Given the description of an element on the screen output the (x, y) to click on. 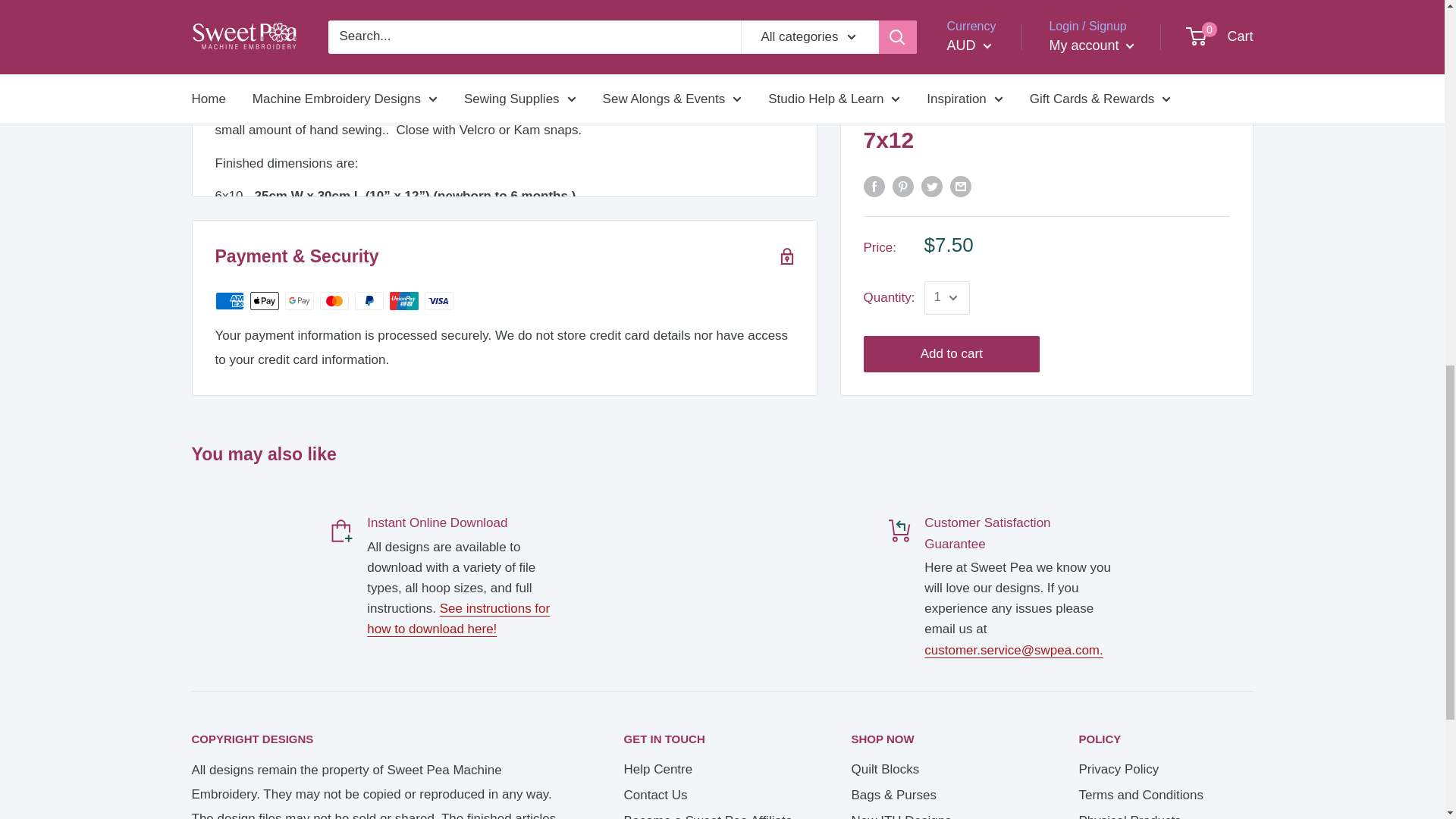
How to Download Designs (458, 618)
